Given the description of an element on the screen output the (x, y) to click on. 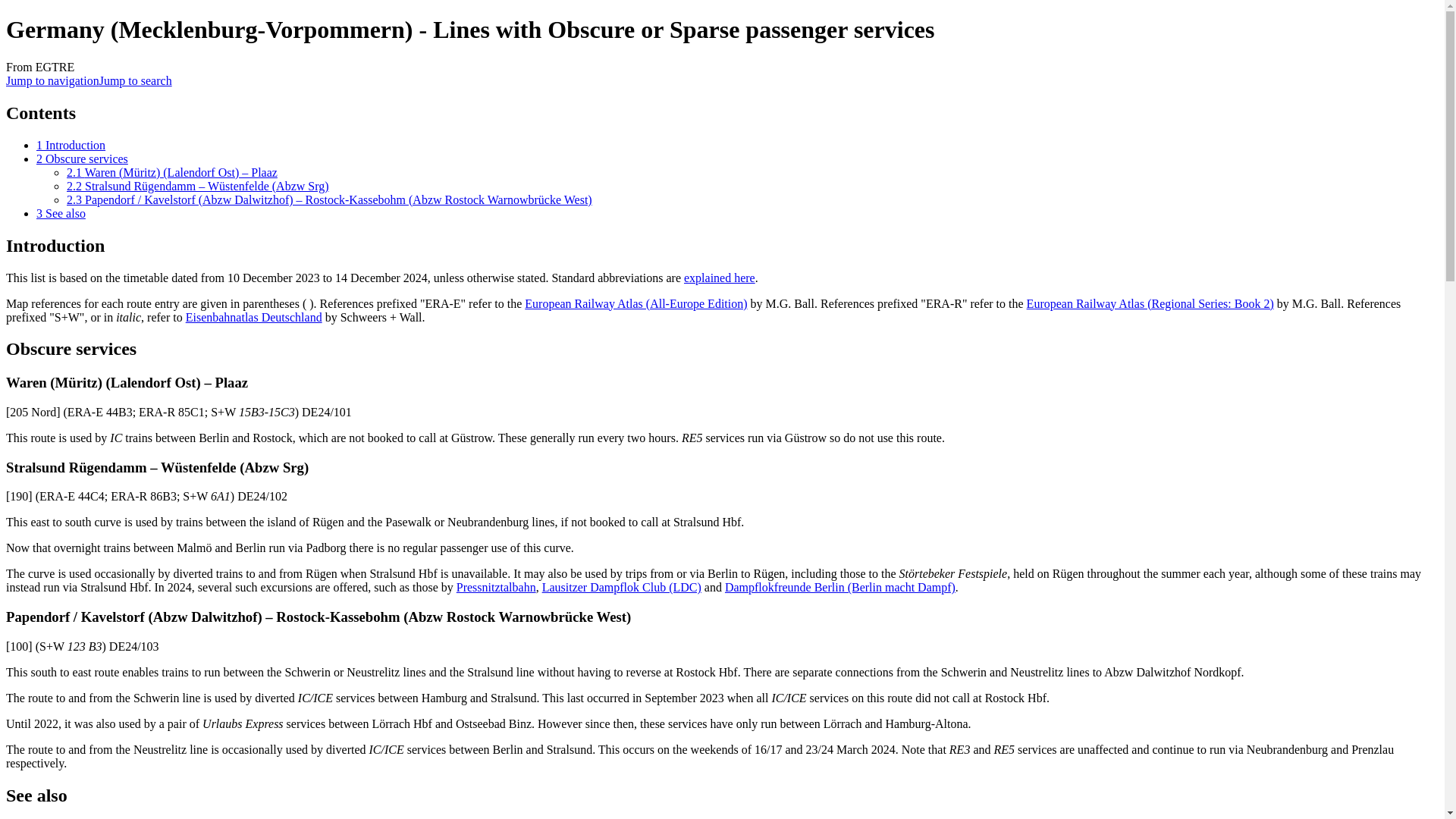
Printed Maps (253, 317)
Printed Maps (1150, 303)
3 See also (60, 213)
Pressnitztalbahn (496, 586)
2 Obscure services (82, 158)
Printed Maps (635, 303)
Eisenbahnatlas Deutschland (253, 317)
1 Introduction (70, 144)
Jump to navigation (52, 80)
Jump to search (135, 80)
Obscure Services Abbreviations (719, 277)
explained here (719, 277)
